Given the description of an element on the screen output the (x, y) to click on. 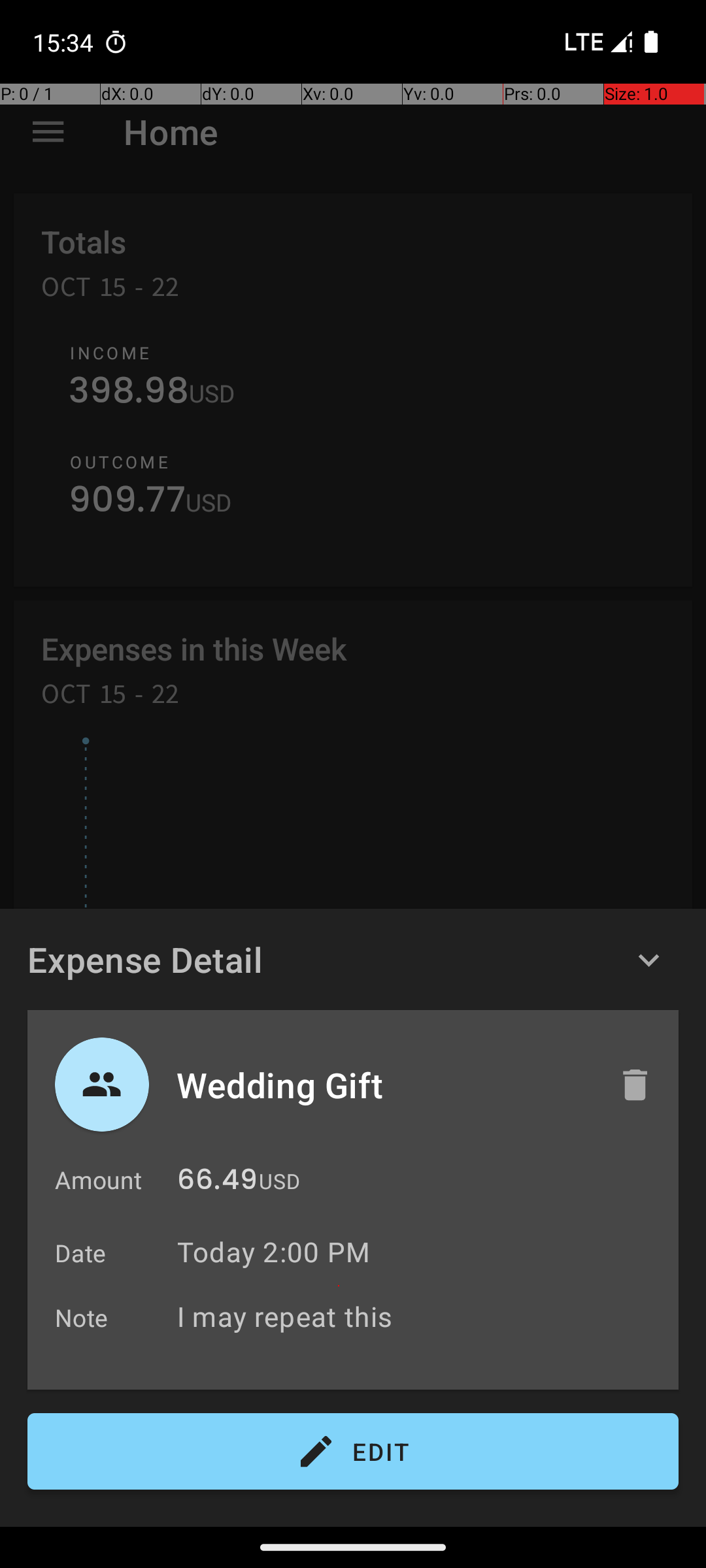
Wedding Gift Element type: android.widget.TextView (383, 1084)
66.49 Element type: android.widget.TextView (217, 1182)
Today 2:00 PM Element type: android.widget.TextView (273, 1251)
